Given the description of an element on the screen output the (x, y) to click on. 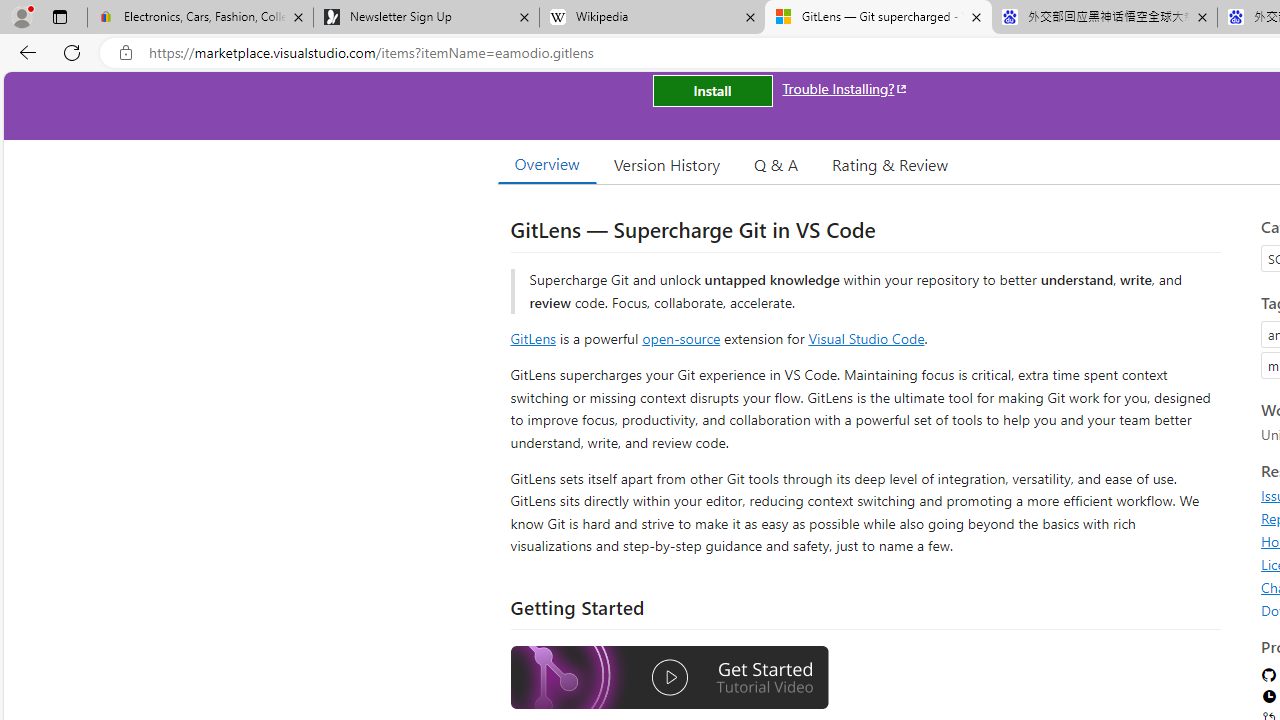
Overview (546, 164)
open-source (681, 337)
Rating & Review (890, 164)
Version History (667, 164)
GitLens (532, 337)
Wikipedia (652, 17)
Watch the GitLens Getting Started video (669, 678)
Install (712, 90)
Visual Studio Code (866, 337)
Q & A (776, 164)
